Given the description of an element on the screen output the (x, y) to click on. 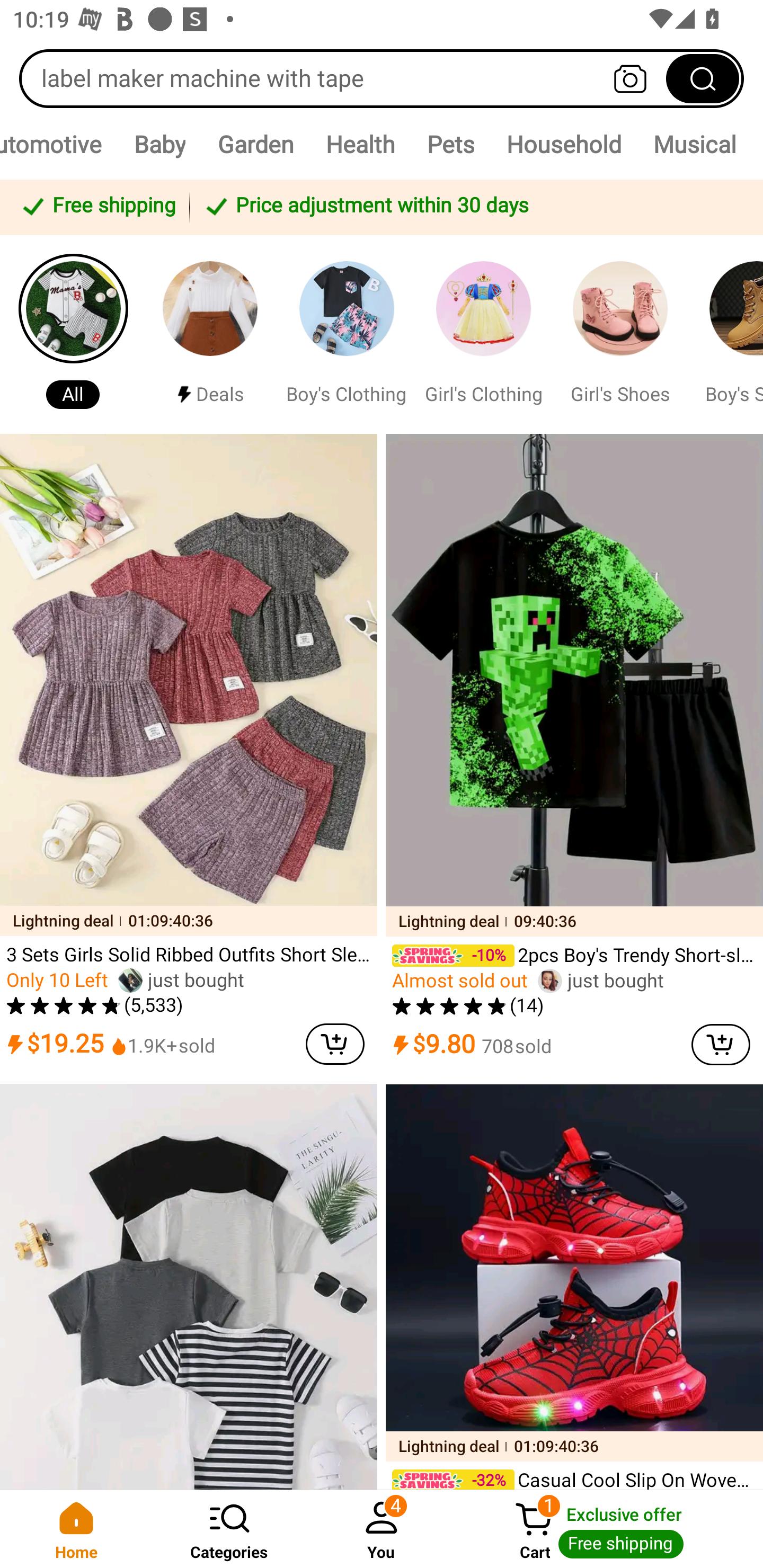
label maker machine with tape (381, 78)
Baby (159, 144)
Garden (255, 144)
Health (359, 144)
Pets (449, 144)
Household (563, 144)
Musical (694, 144)
Free shipping (97, 206)
Price adjustment within 30 days (472, 206)
All (72, 333)
￼￼Deals (209, 333)
Boy's Clothing (346, 333)
Girl's Clothing (482, 333)
Girl's Shoes (619, 333)
Boy's Shoes (729, 333)
cart delete (334, 1043)
cart delete (720, 1043)
Home (76, 1528)
Categories (228, 1528)
You 4 You (381, 1528)
Cart 1 Cart Exclusive offer (610, 1528)
